Given the description of an element on the screen output the (x, y) to click on. 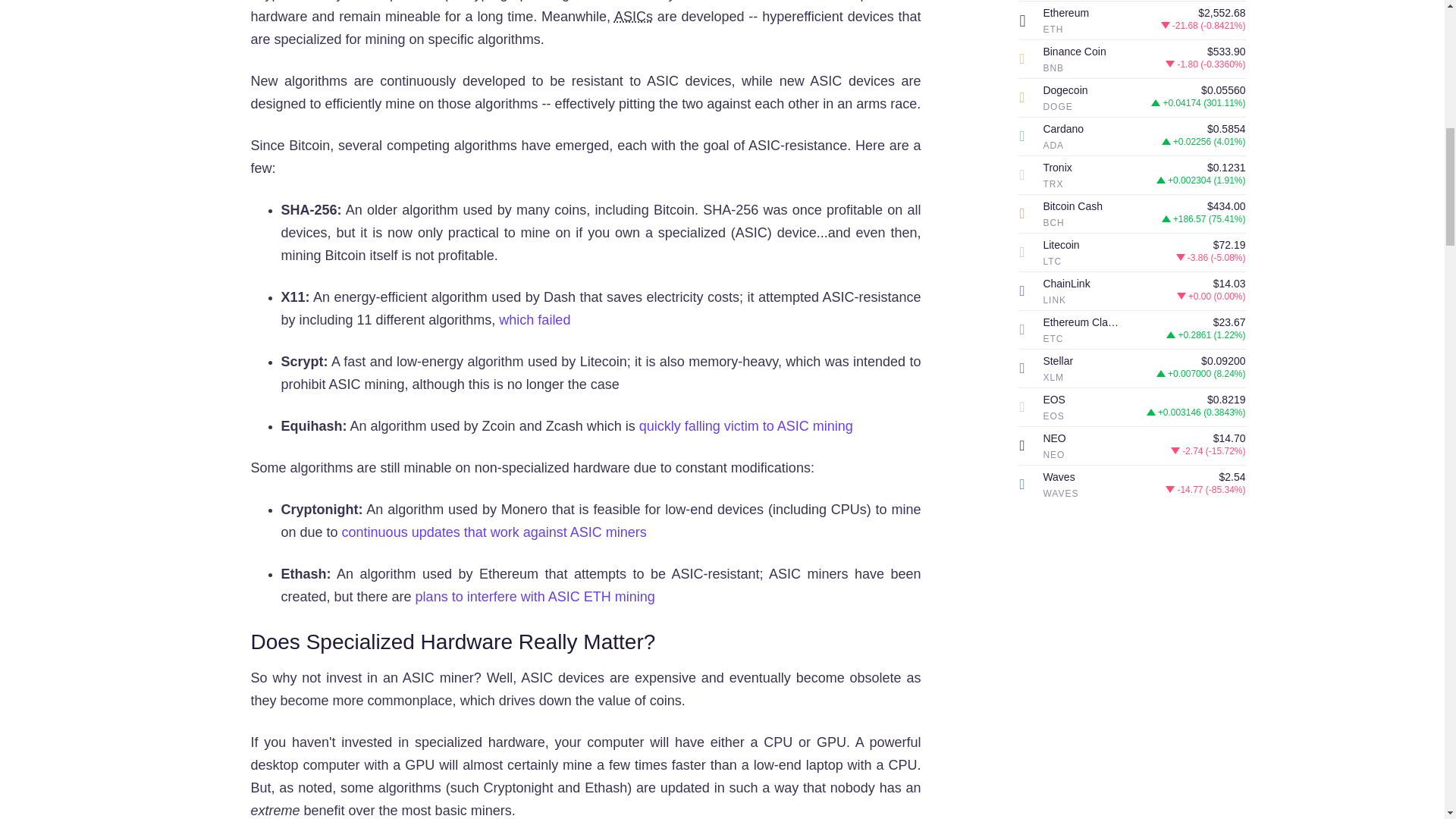
Application-specific integrated circuits (633, 16)
Cryptonight ASIC Miner Will Be Obsolete  (494, 531)
ASIC mining for Equihash (746, 426)
Why Ethash ASIC Mining Will Fail (534, 596)
